Given the description of an element on the screen output the (x, y) to click on. 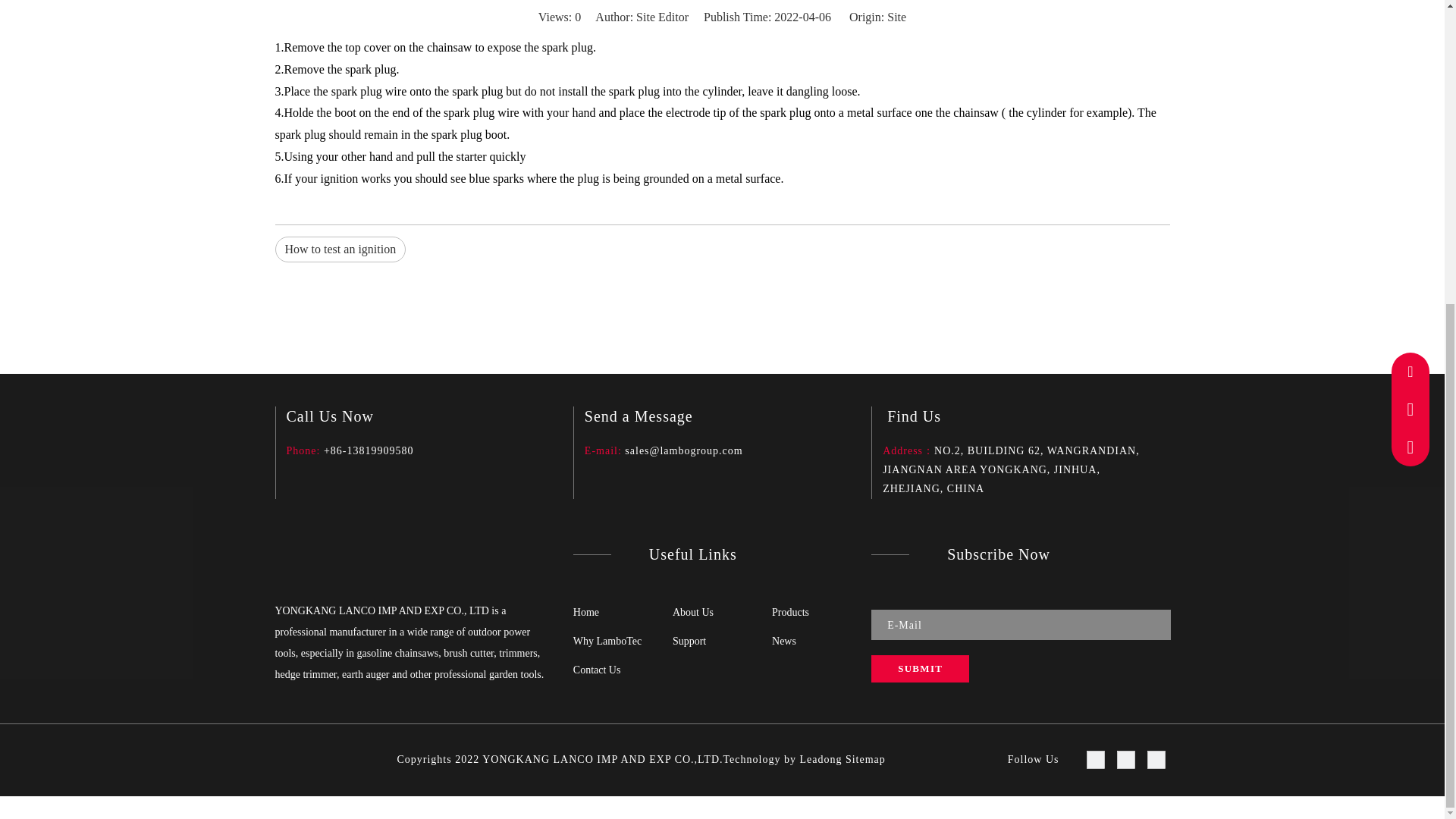
Contact Us (597, 669)
Why LamboTec (607, 641)
News (783, 641)
Subscribe (919, 668)
How to test an ignition (340, 249)
Youtube (1160, 763)
Support (689, 641)
About Us (692, 612)
Twitter (1129, 763)
Products (790, 612)
Home (585, 612)
Facebook (1099, 763)
